Given the description of an element on the screen output the (x, y) to click on. 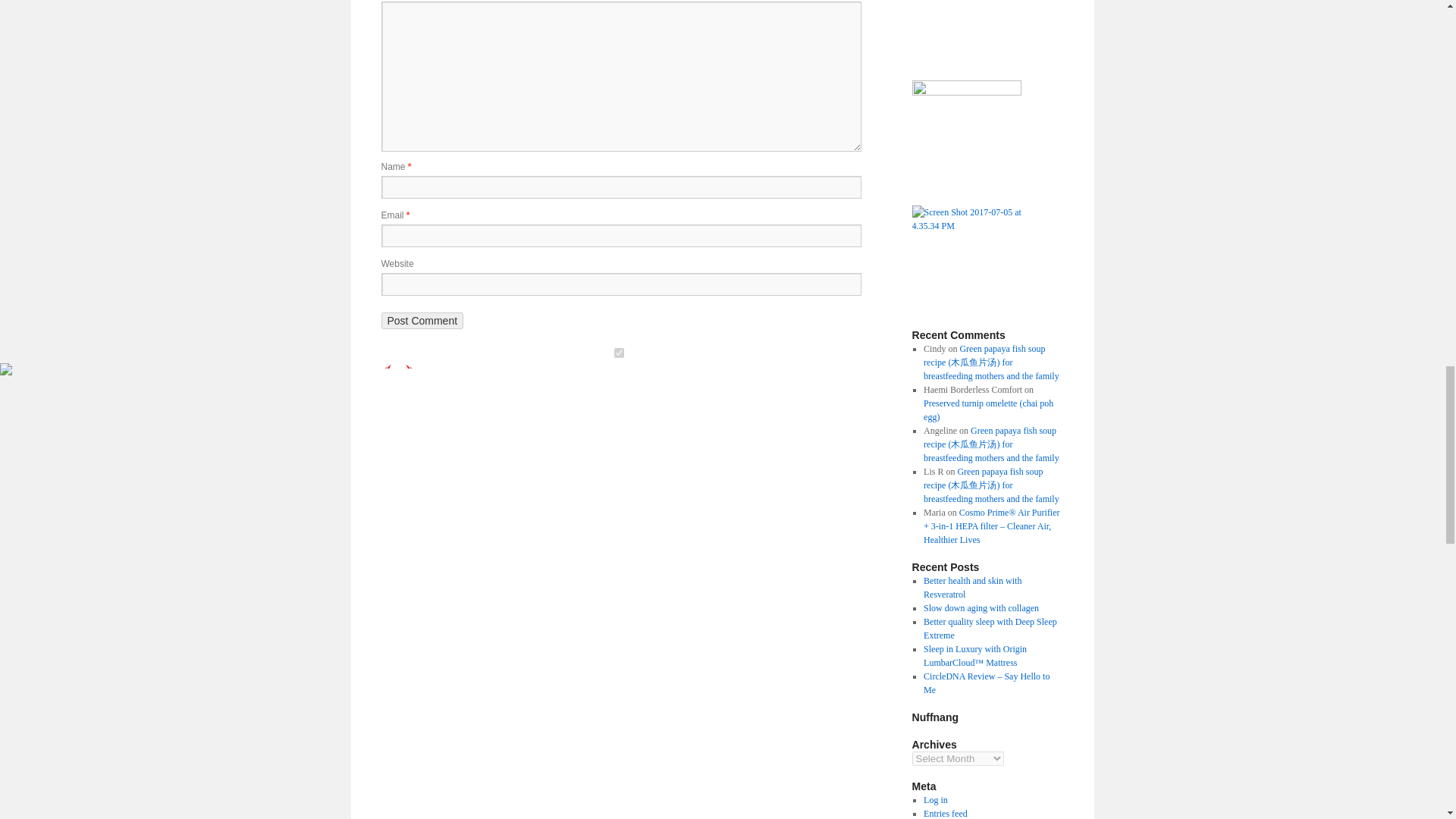
CommentLuv is enabled (450, 382)
Post Comment (421, 320)
on (618, 352)
Post Comment (421, 320)
